Given the description of an element on the screen output the (x, y) to click on. 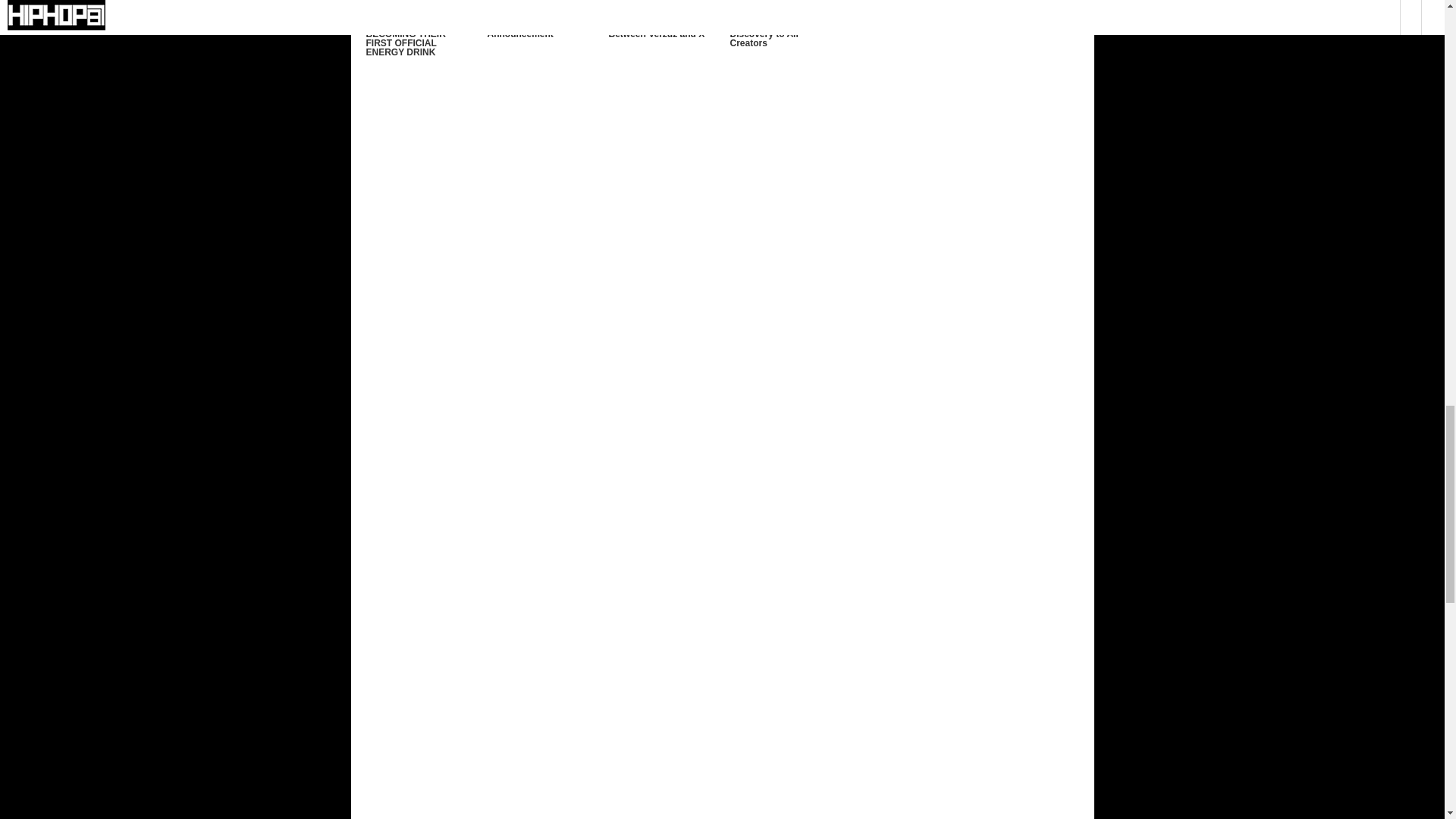
REFORM Alliance Announces Historic Clemency Announcement (529, 20)
REFORM Alliance Announces Historic Clemency Announcement (529, 20)
